Given the description of an element on the screen output the (x, y) to click on. 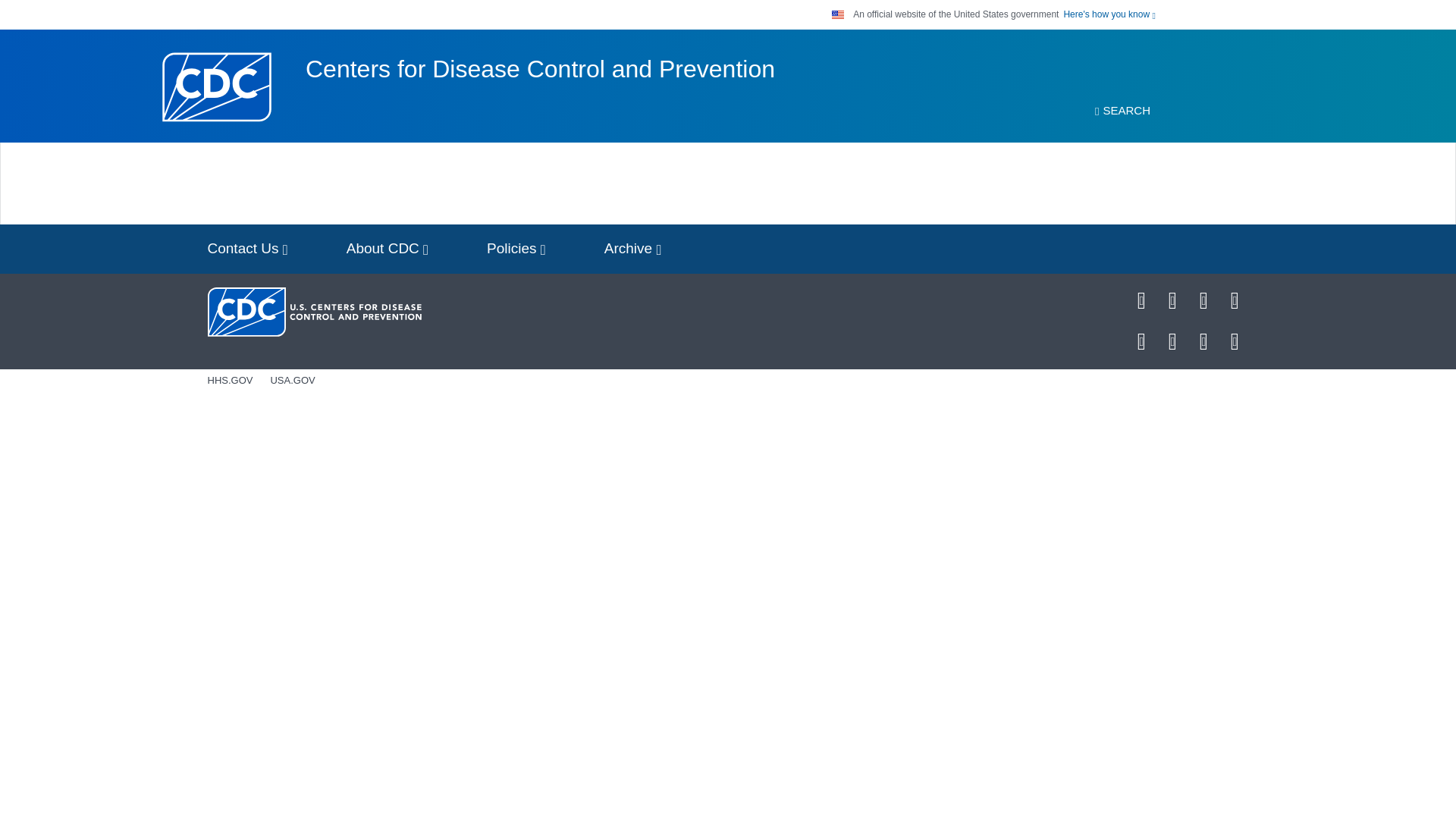
SEARCH (1122, 110)
Contact Us (247, 248)
About CDC (387, 248)
Archive (633, 248)
Here's how you know (1108, 14)
Centers for Disease Control and Prevention (539, 68)
Policies (516, 248)
